Given the description of an element on the screen output the (x, y) to click on. 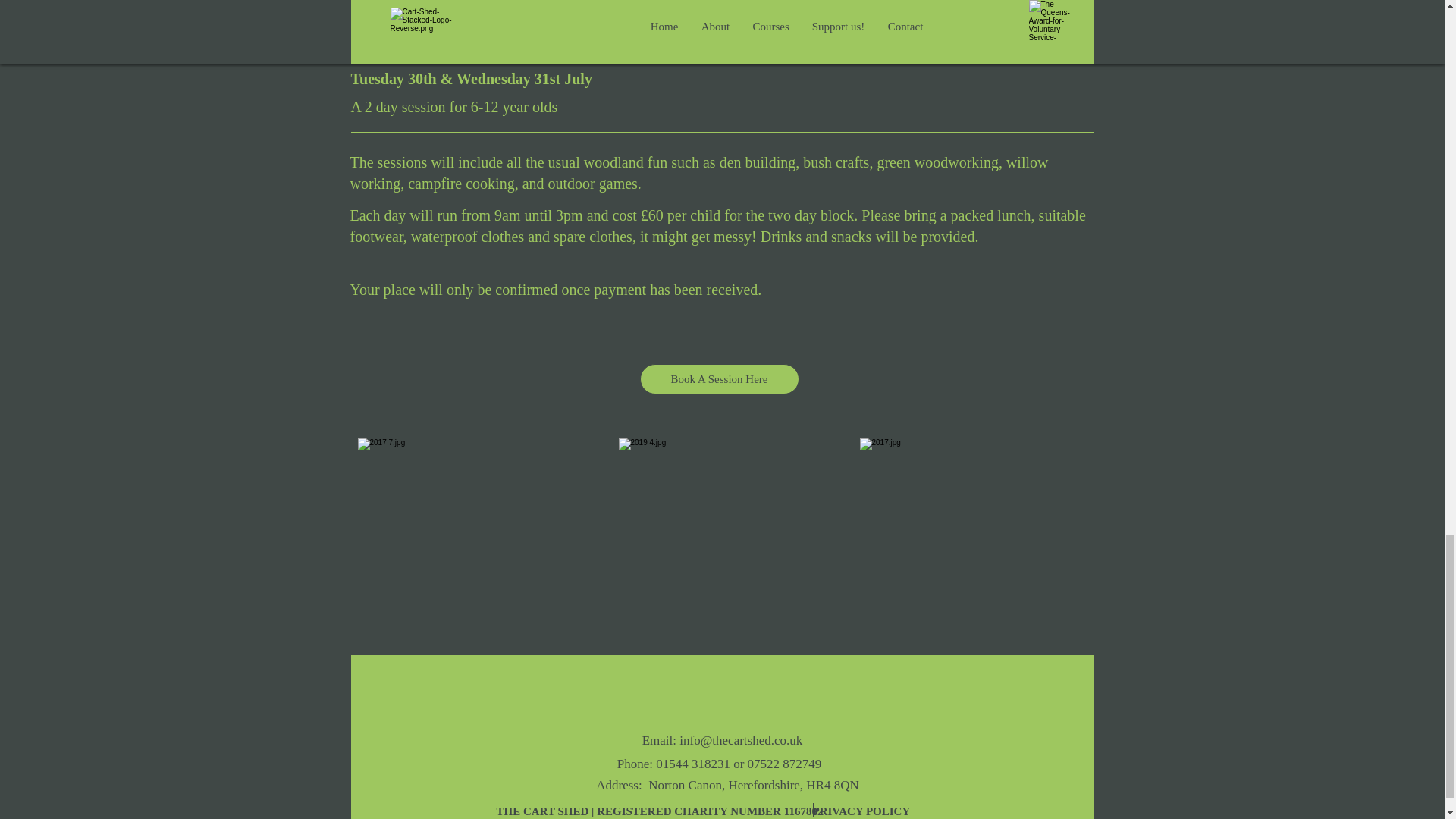
Book A Session Here (719, 378)
PRIVACY POLICY  (862, 810)
